Given the description of an element on the screen output the (x, y) to click on. 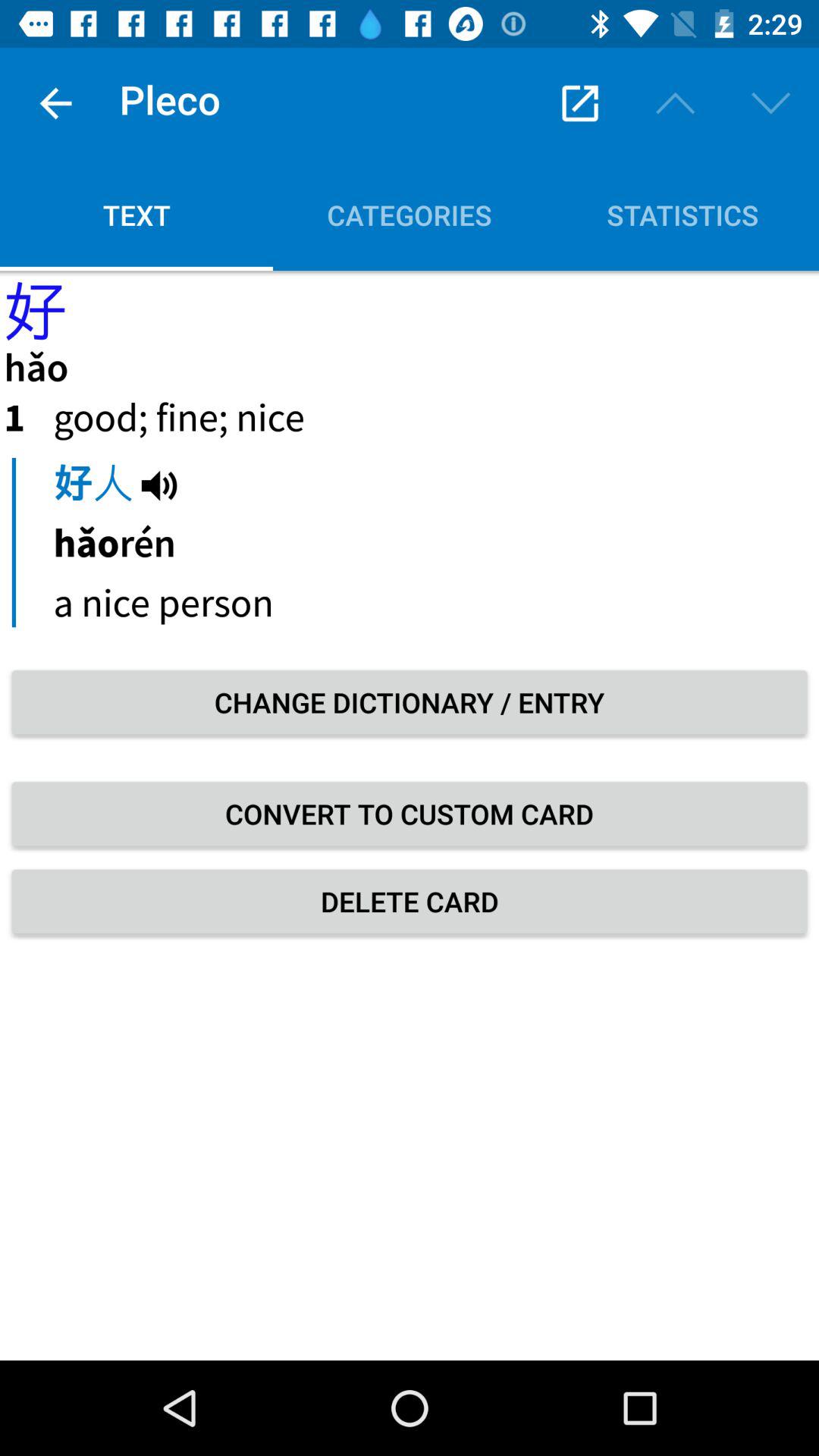
click on statistics (682, 214)
select the upwards arrow icon (675, 103)
click on the first icon right to pleco (580, 103)
click on the down arrow which is below 229 (771, 103)
click on the button change dictionaryentry (409, 702)
